Given the description of an element on the screen output the (x, y) to click on. 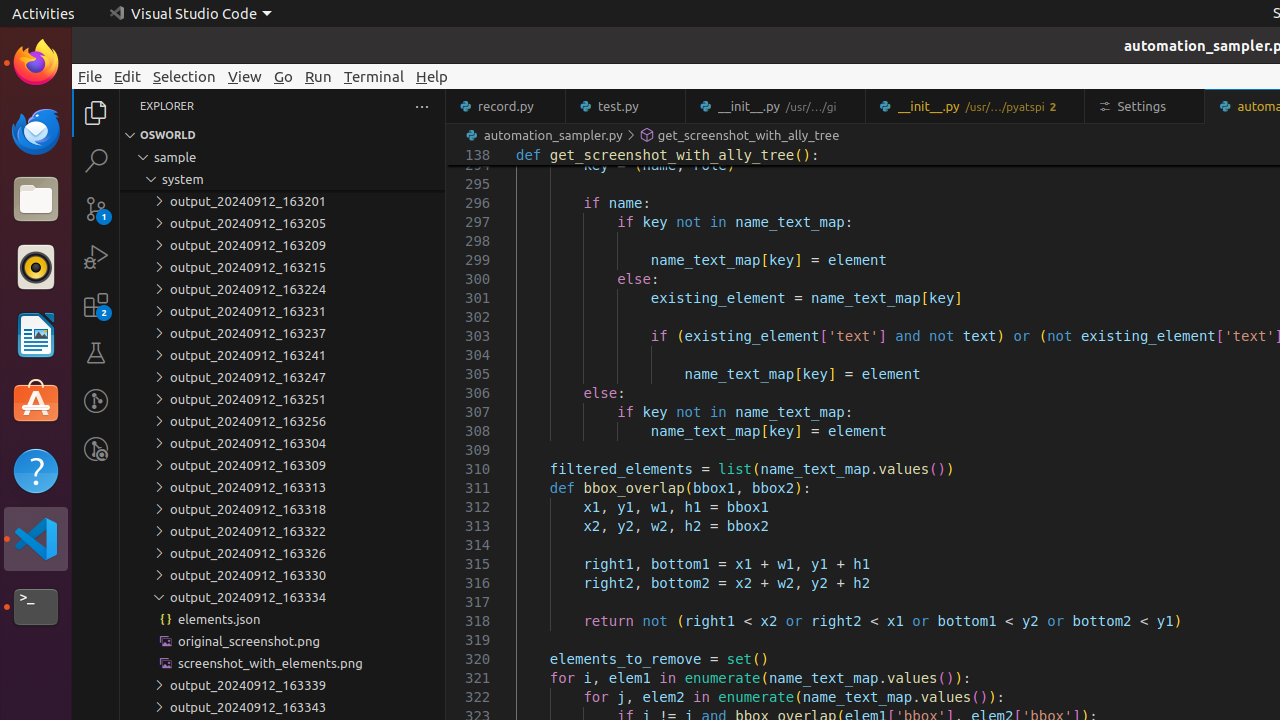
output_20240912_163231 Element type: tree-item (282, 311)
View Element type: push-button (245, 76)
GitLens Inspect Element type: page-tab (96, 449)
output_20240912_163241 Element type: tree-item (282, 355)
